Given the description of an element on the screen output the (x, y) to click on. 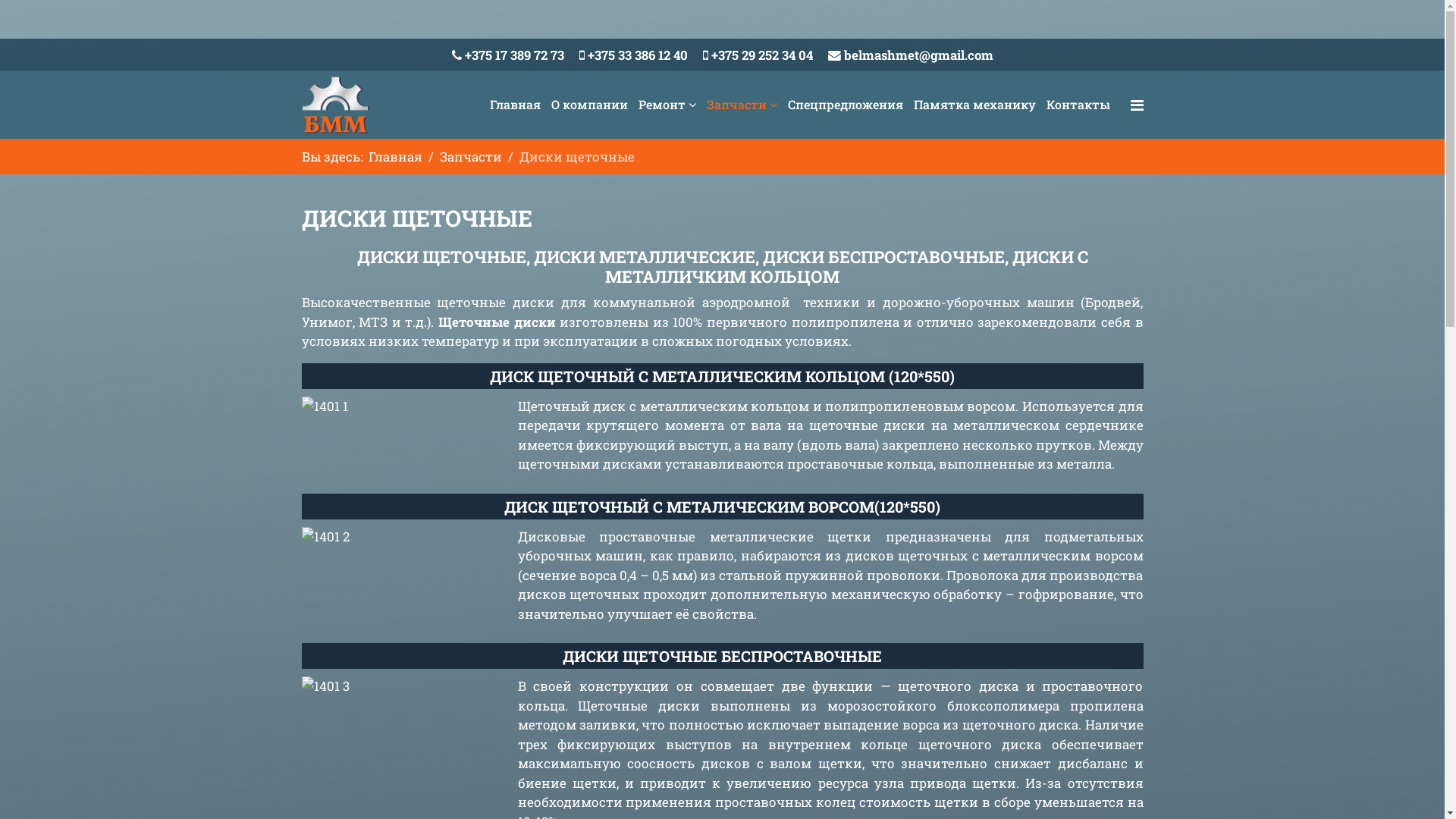
belmashmet@gmail.com Element type: text (917, 54)
+375 29 252 34 04 Element type: text (761, 54)
+375 17 389 72 73 Element type: text (513, 54)
Navigation Element type: hover (1135, 104)
+375 33 386 12 40 Element type: text (636, 54)
